Given the description of an element on the screen output the (x, y) to click on. 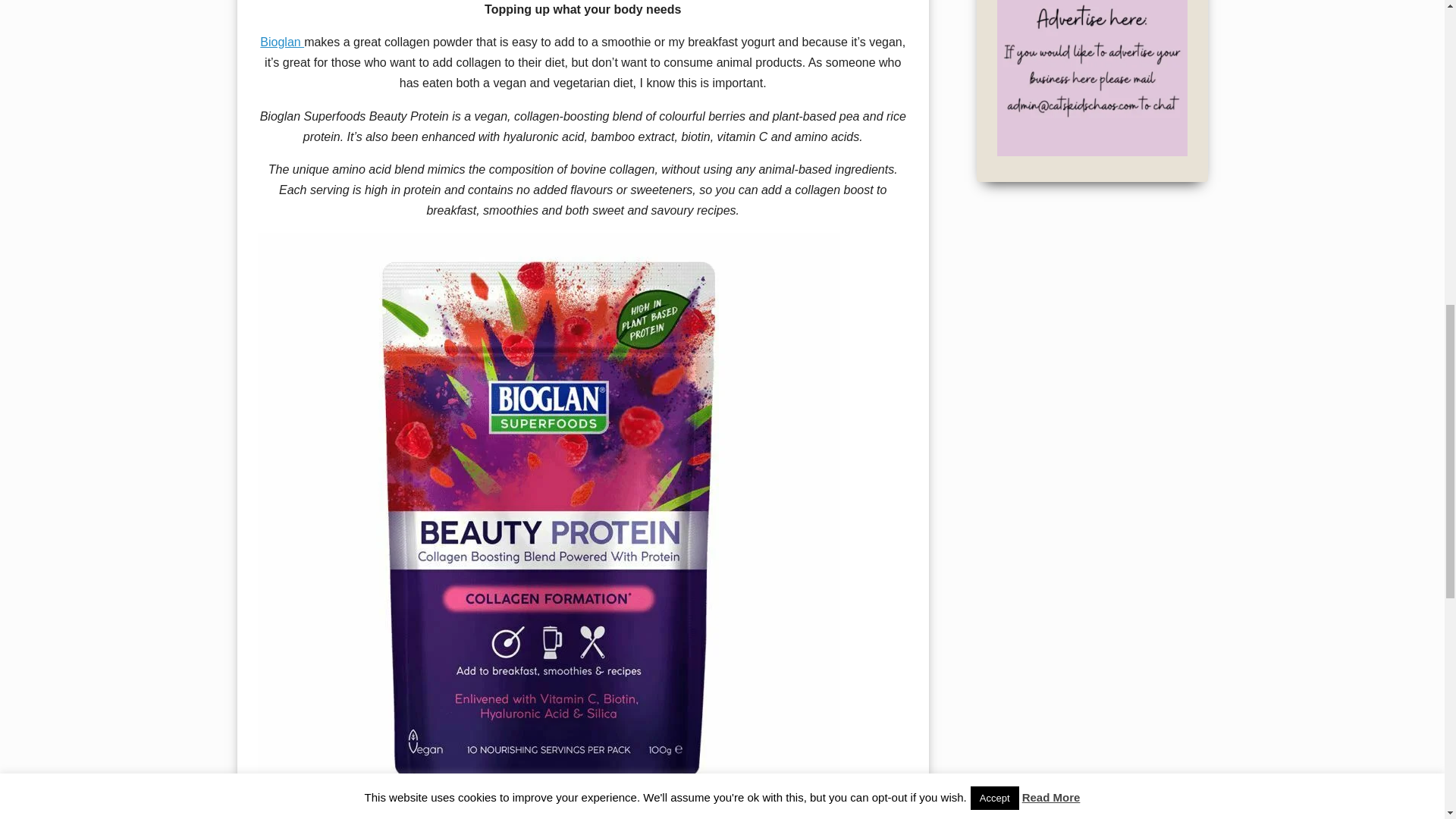
Bioglan (282, 42)
